Given the description of an element on the screen output the (x, y) to click on. 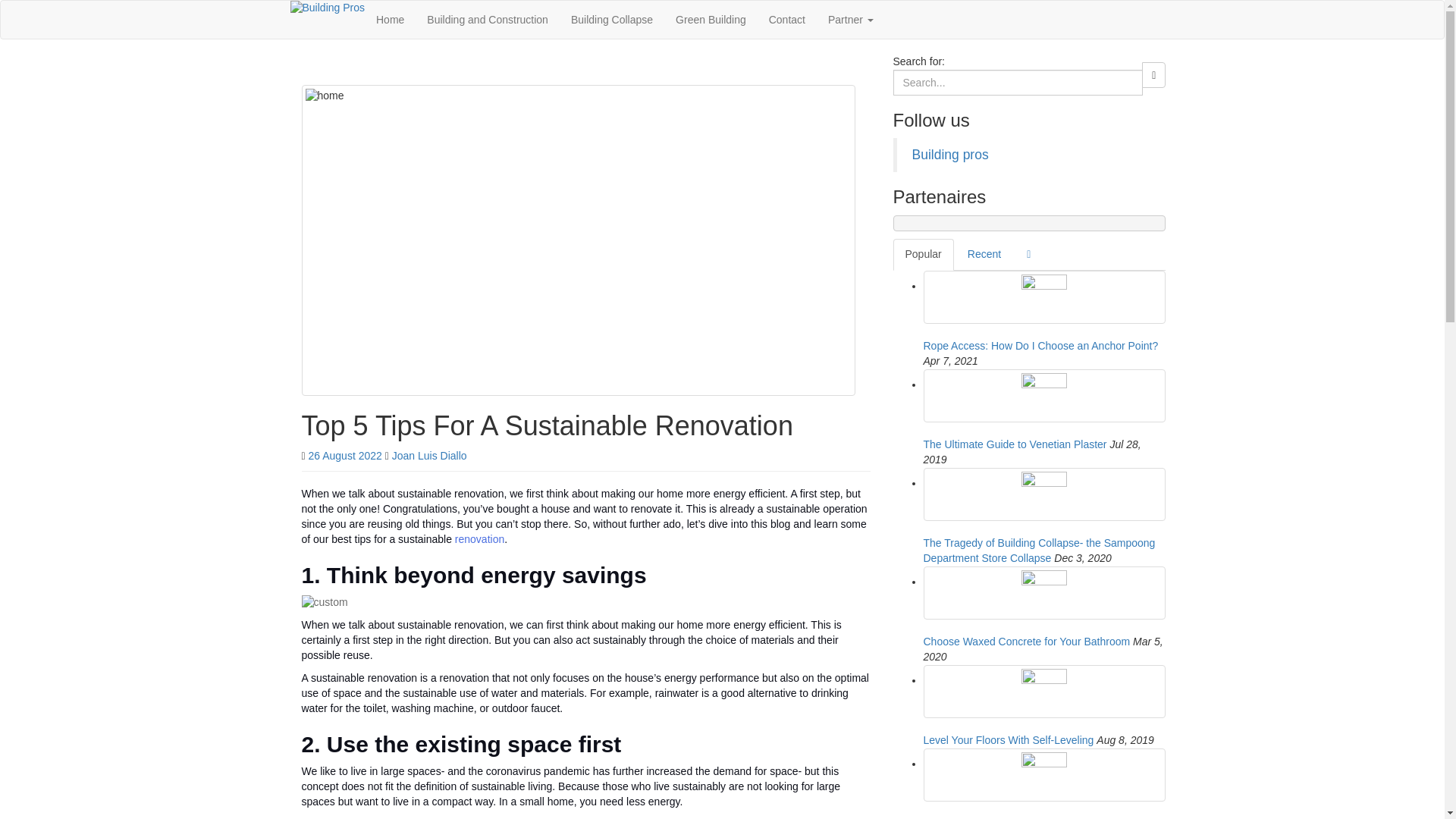
Building Collapse (611, 19)
Recent (984, 255)
Partner (850, 19)
Search (1153, 74)
Rope Access: How Do I Choose an Anchor Point? (1040, 345)
renovation (478, 539)
Popular (923, 255)
Green Building (710, 19)
Home (389, 19)
Building pros (949, 154)
Contact (786, 19)
Partner (850, 19)
Rope Access: How Do I Choose an Anchor Point? (1040, 345)
Rope Access: How Do I Choose an Anchor Point? (1044, 297)
The Ultimate Guide to Venetian Plaster (1014, 444)
